Given the description of an element on the screen output the (x, y) to click on. 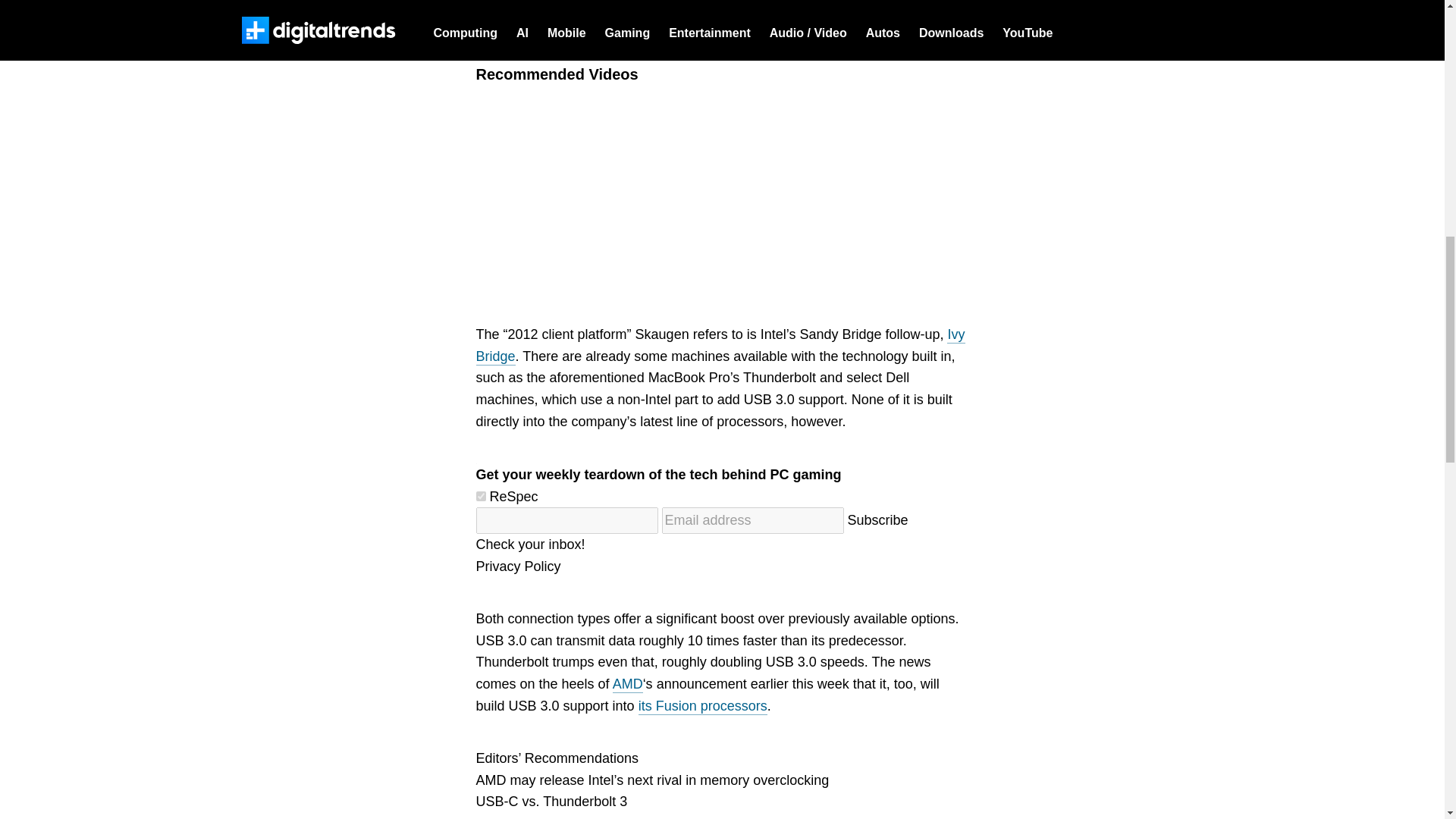
5v4do24qcst (481, 496)
